Given the description of an element on the screen output the (x, y) to click on. 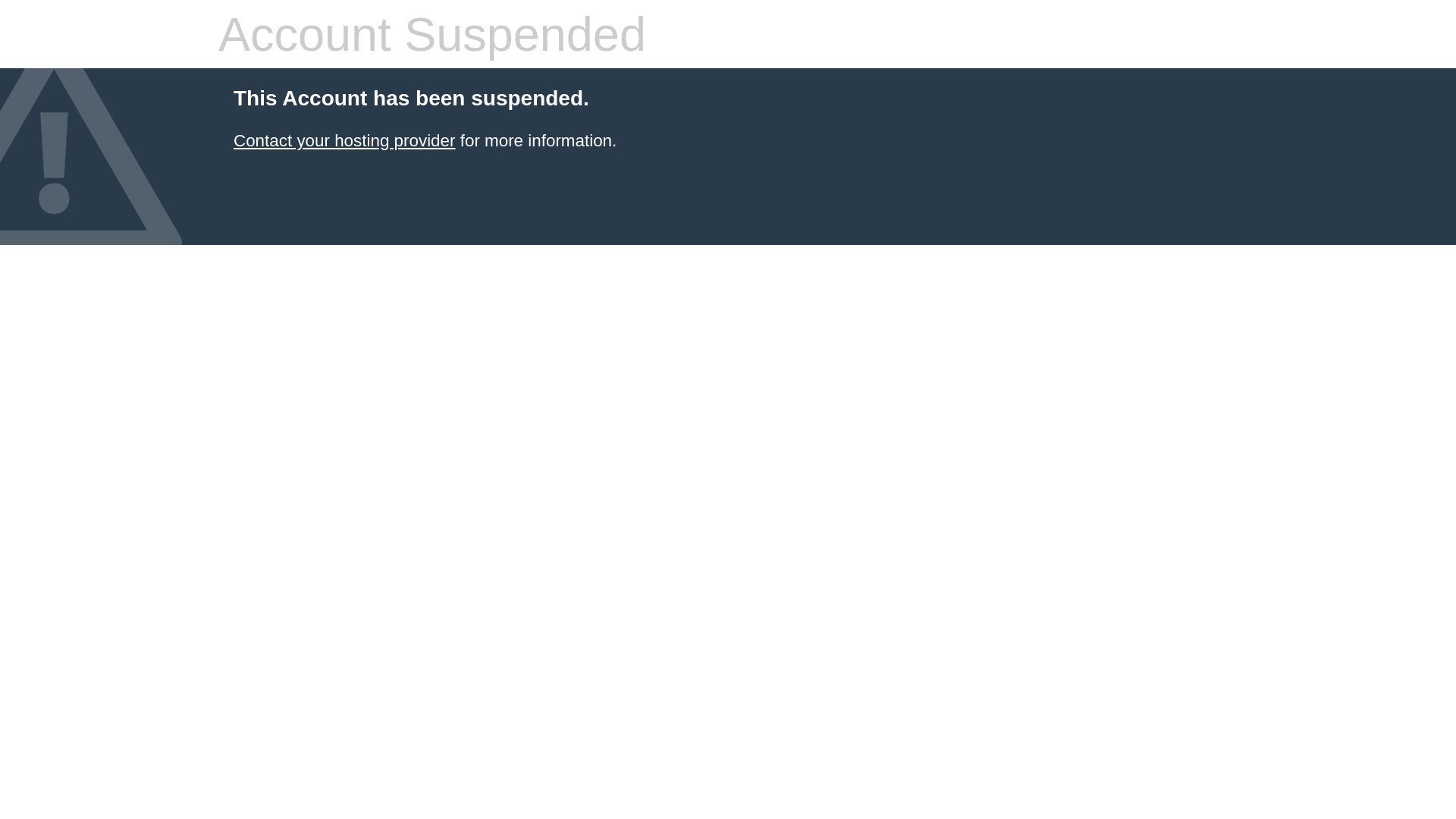
Contact your hosting provider Element type: text (344, 140)
